Given the description of an element on the screen output the (x, y) to click on. 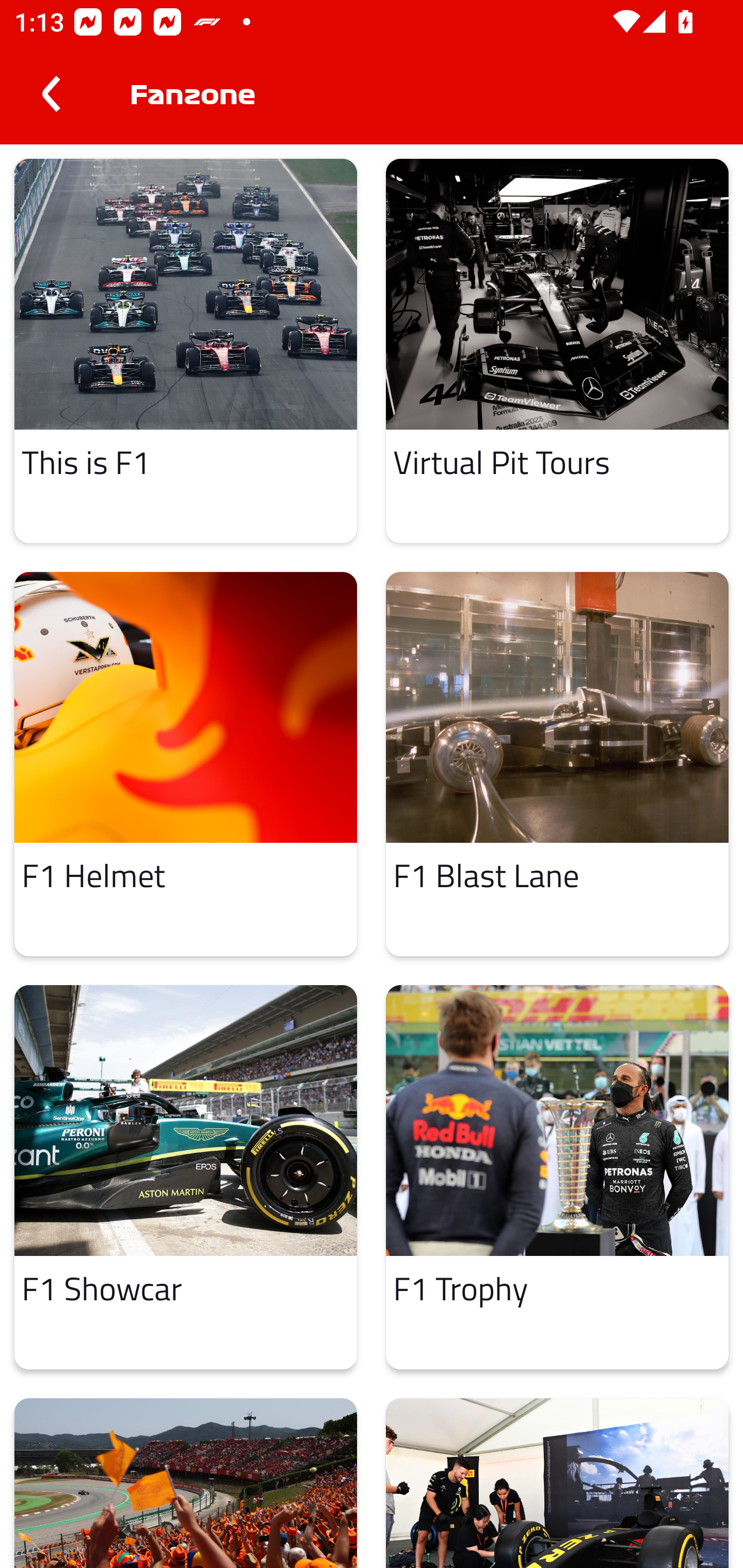
Navigate up (50, 93)
This is F1 (185, 350)
Virtual Pit Tours (556, 350)
F1 Helmet (185, 764)
F1 Blast Lane (556, 764)
F1 Showcar (185, 1176)
F1 Trophy (556, 1176)
